Given the description of an element on the screen output the (x, y) to click on. 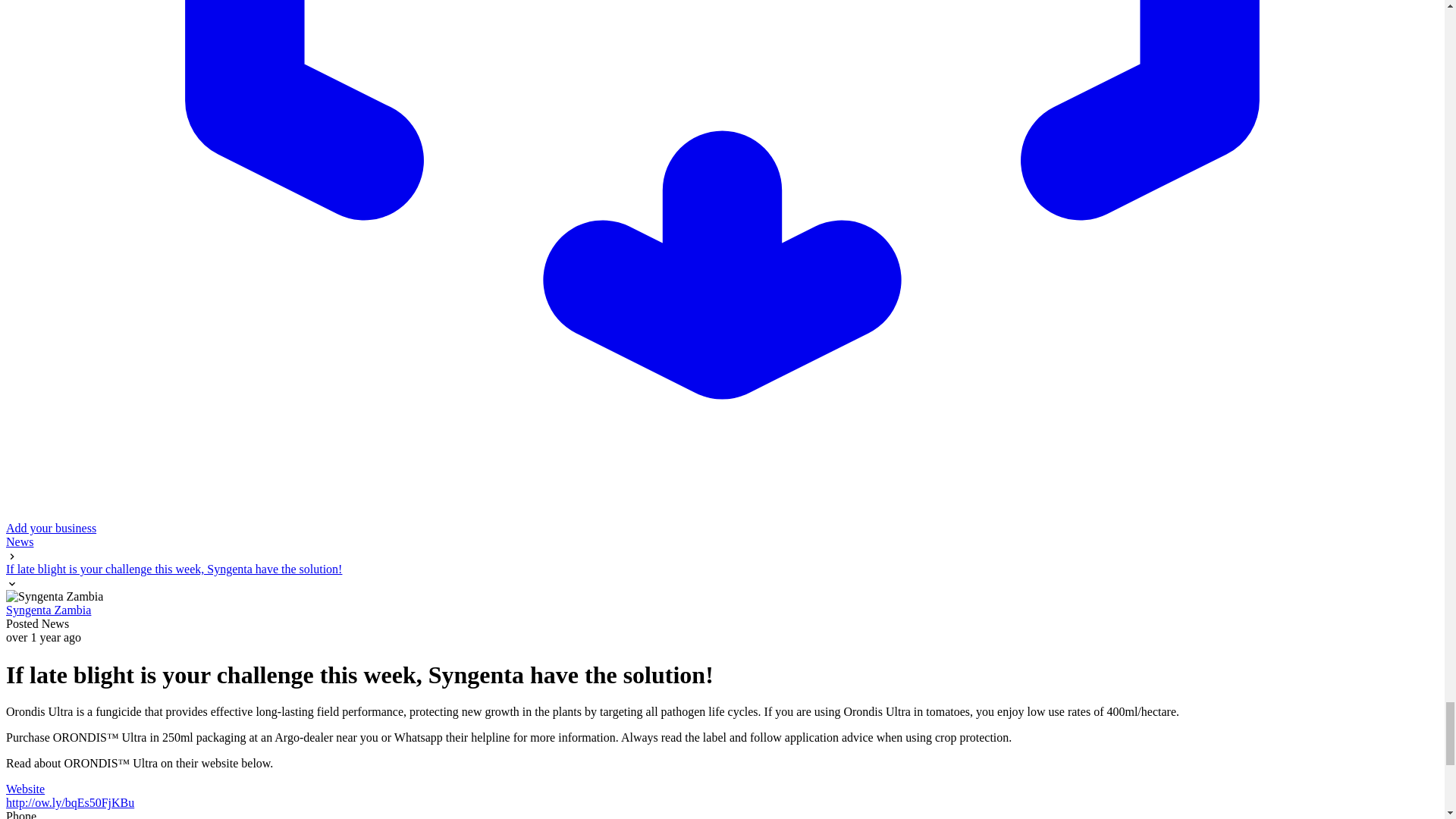
Syngenta Zambia (47, 609)
Syngenta Zambia (47, 609)
News (19, 541)
